Given the description of an element on the screen output the (x, y) to click on. 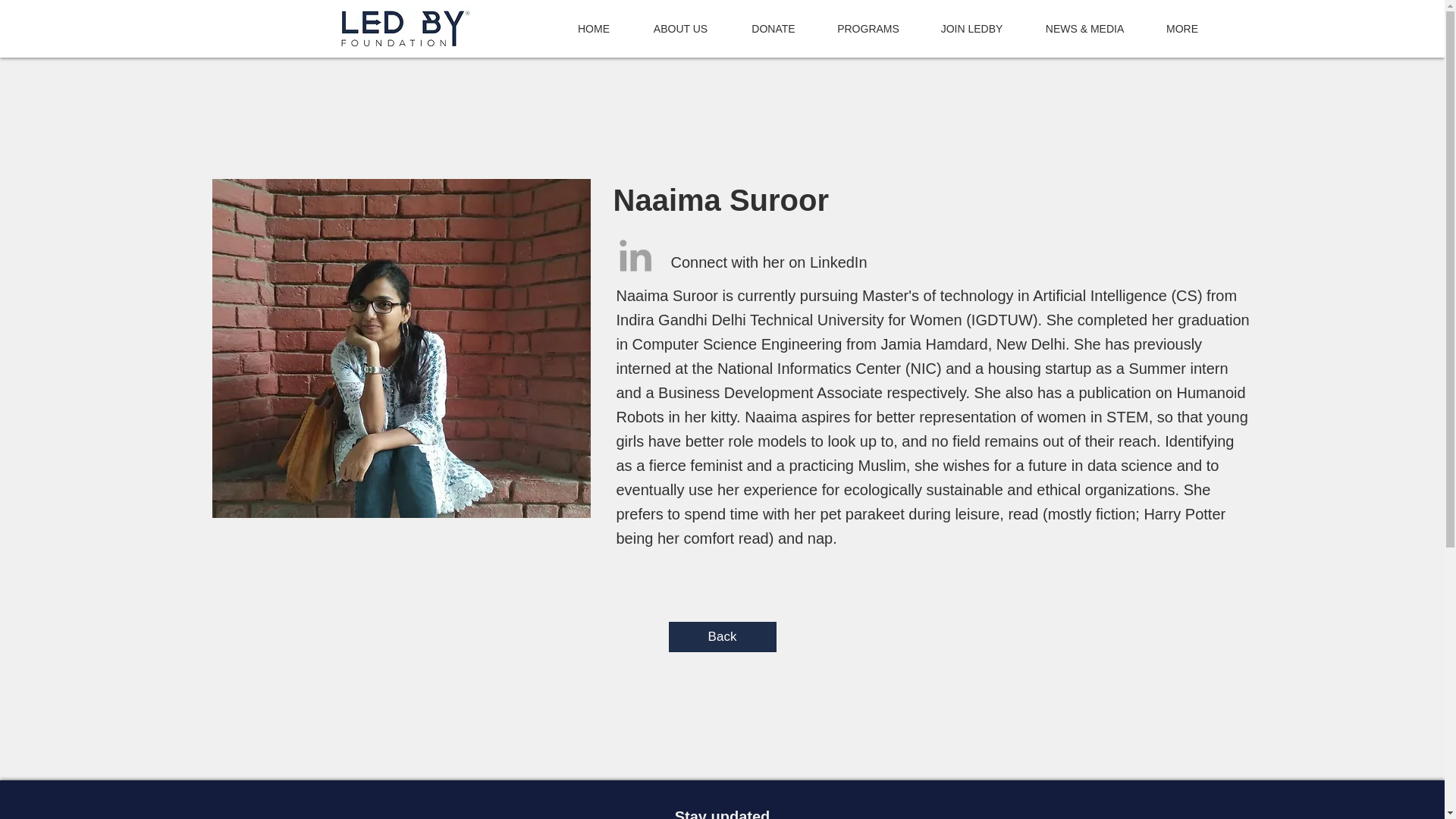
Back (722, 636)
HOME (593, 28)
JOIN LEDBY (970, 28)
DONATE (772, 28)
